Given the description of an element on the screen output the (x, y) to click on. 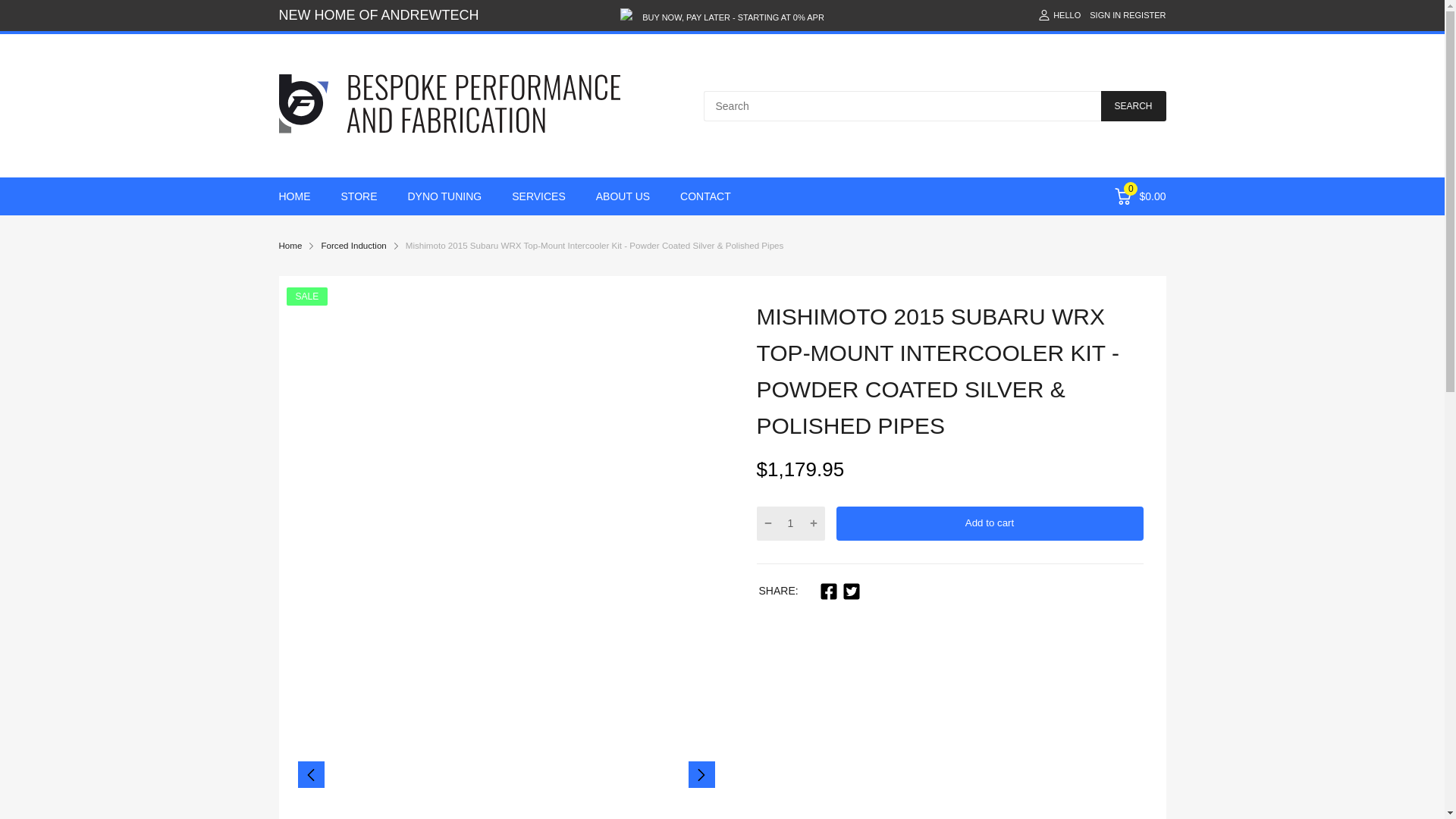
REGISTER (1144, 14)
ABOUT US (622, 196)
Home (290, 245)
STORE (358, 196)
HELLO (1059, 15)
Forced Induction (352, 245)
DYNO TUNING (444, 196)
Facebook (828, 591)
SEARCH (1133, 105)
CONTACT (704, 196)
